Given the description of an element on the screen output the (x, y) to click on. 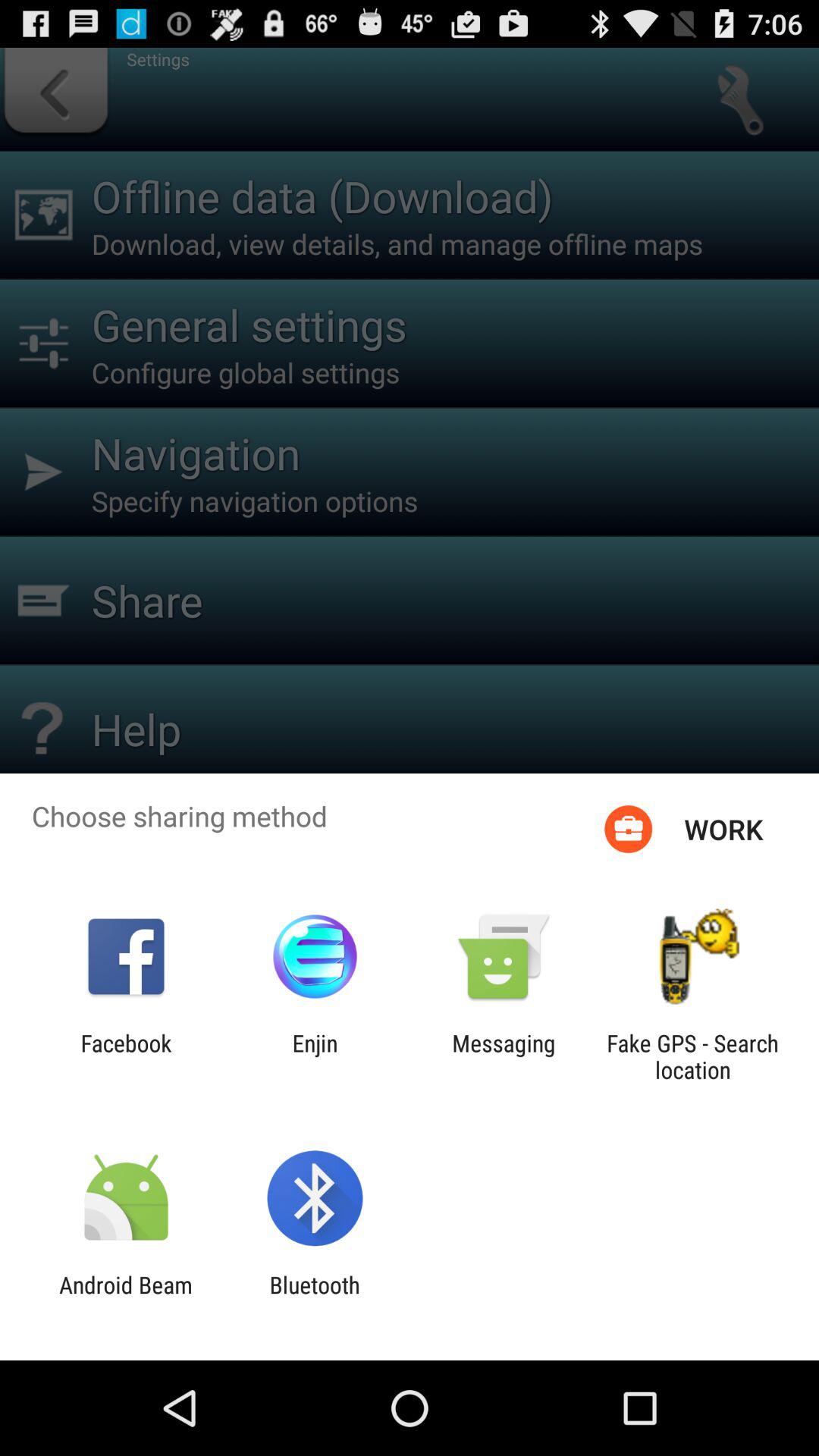
jump until messaging icon (503, 1056)
